Given the description of an element on the screen output the (x, y) to click on. 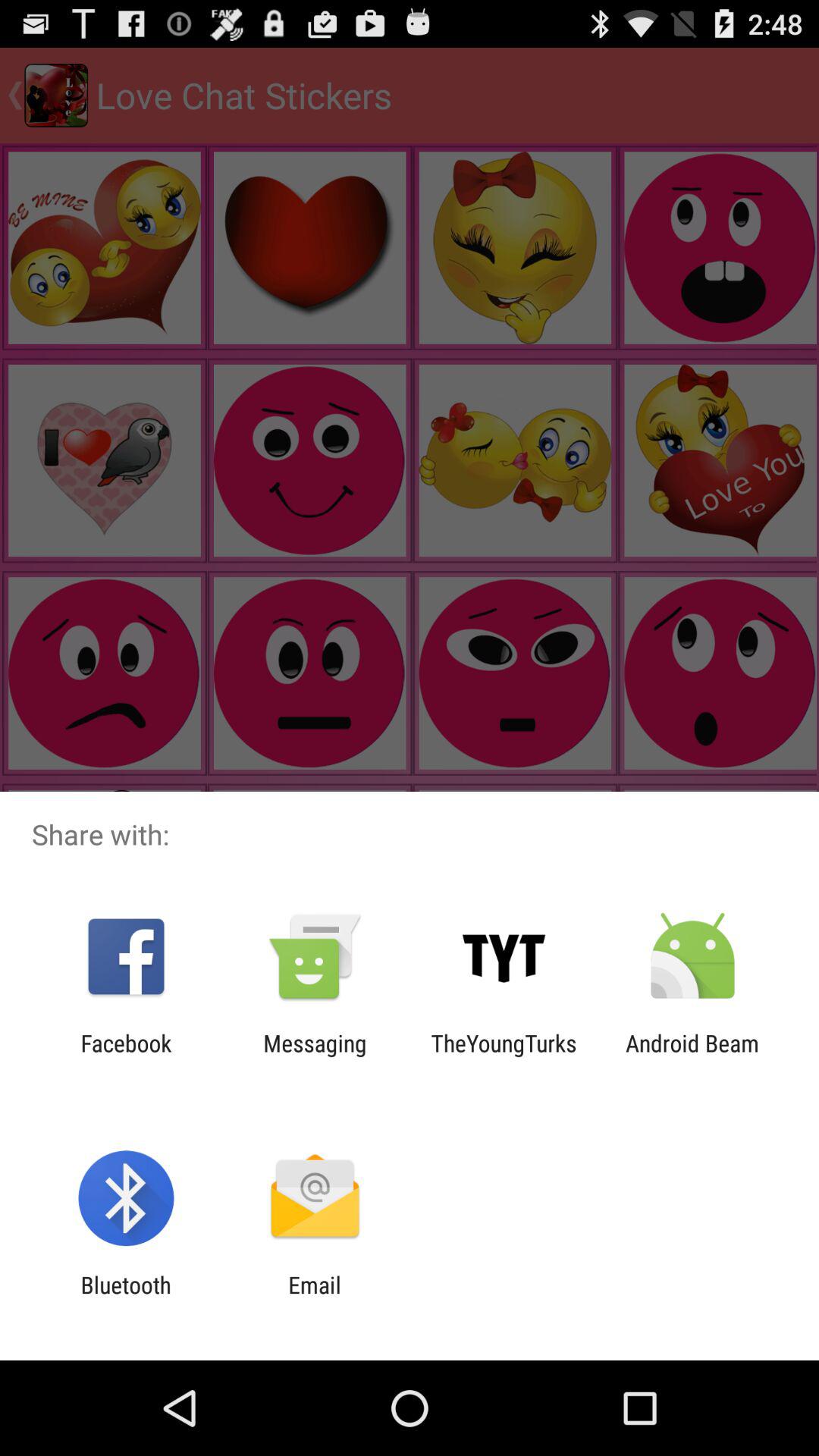
click the app next to email app (125, 1298)
